Given the description of an element on the screen output the (x, y) to click on. 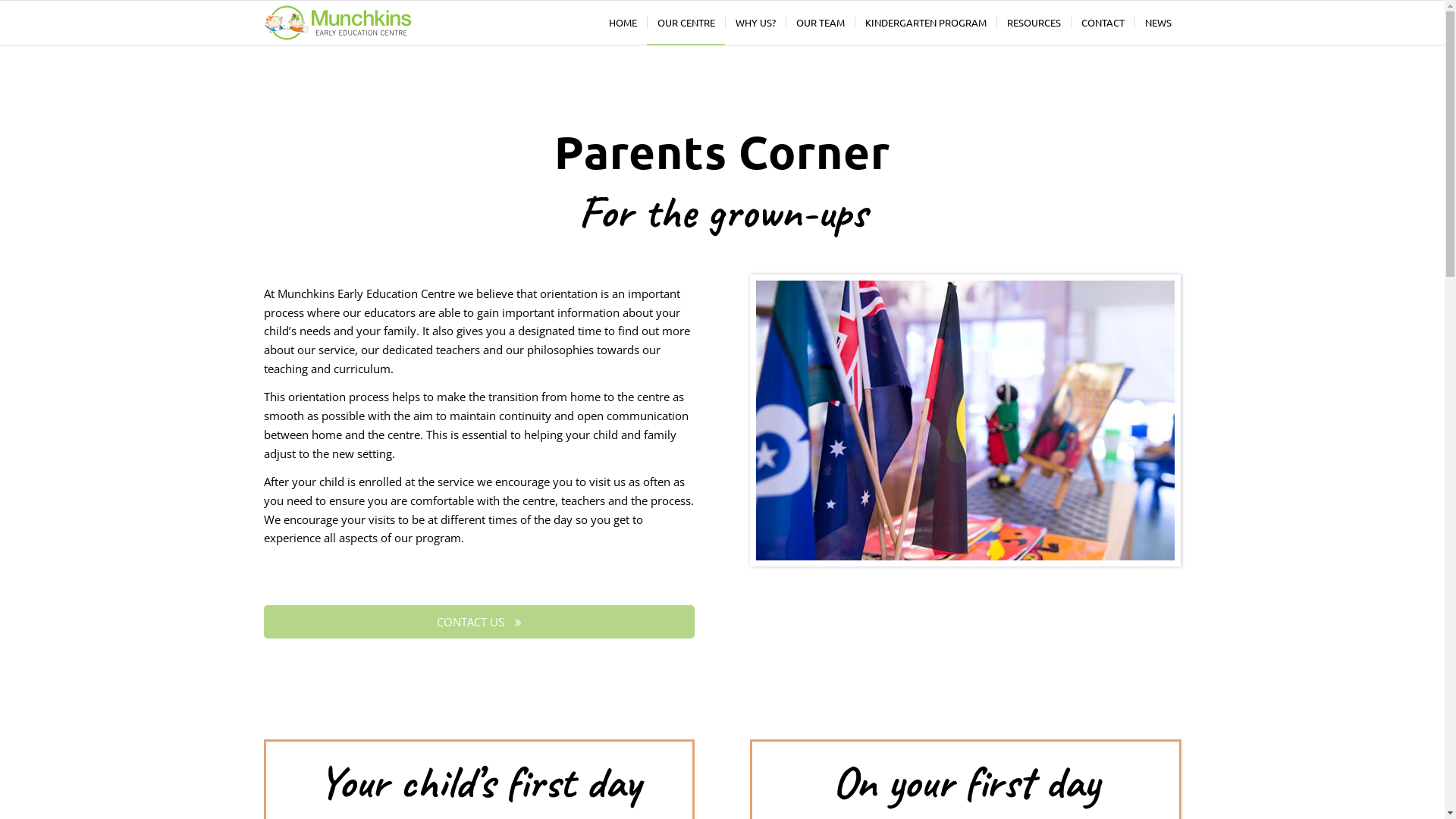
RESOURCES Element type: text (1033, 22)
DSC_9939 Element type: hover (965, 420)
OUR TEAM Element type: text (819, 22)
OUR CENTRE Element type: text (685, 22)
HOME Element type: text (622, 22)
KINDERGARTEN PROGRAM Element type: text (924, 22)
CONTACT US Element type: text (478, 621)
NEWS Element type: text (1157, 22)
WHY US? Element type: text (754, 22)
CONTACT Element type: text (1102, 22)
